Given the description of an element on the screen output the (x, y) to click on. 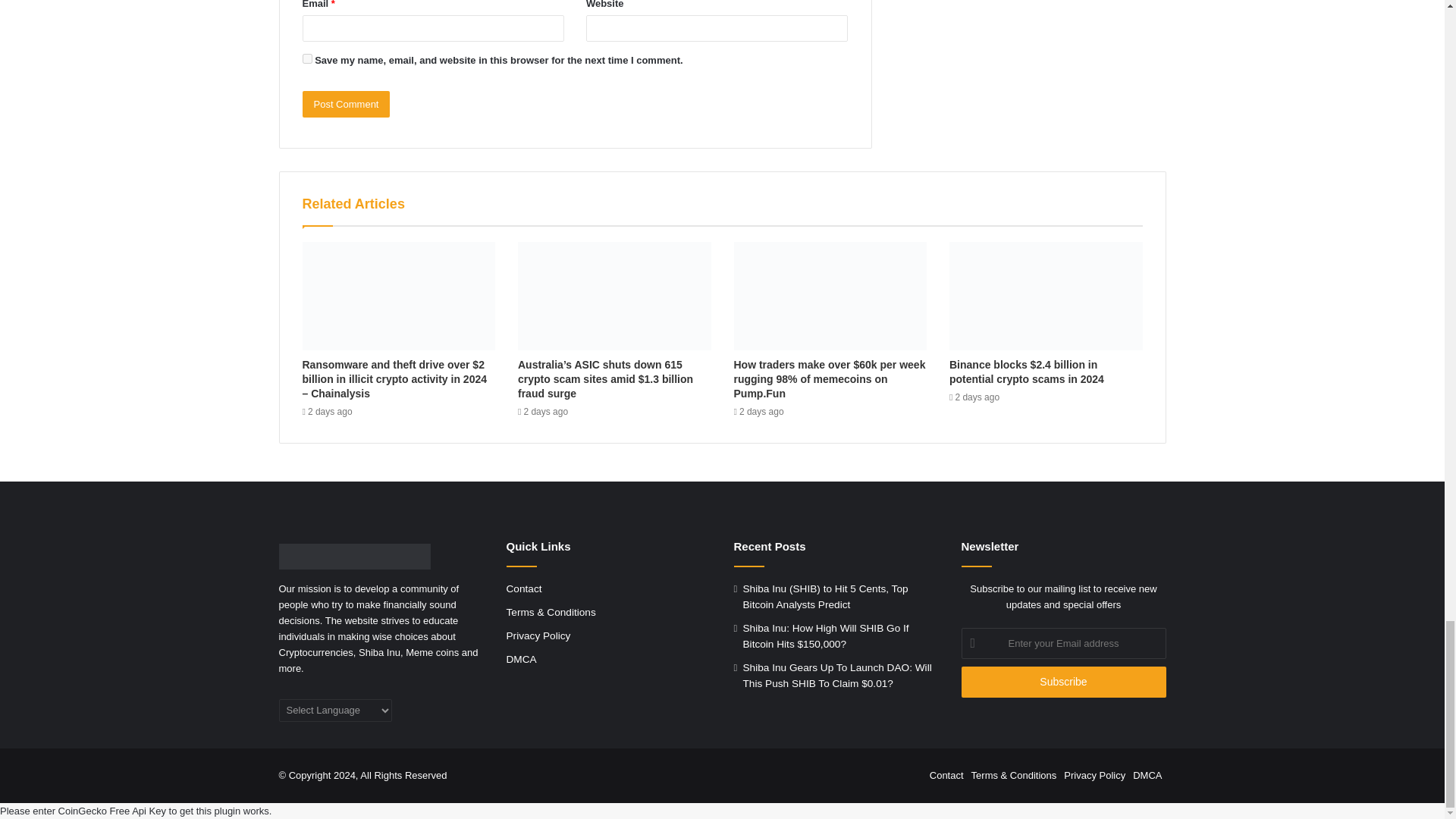
Subscribe (1063, 681)
yes (306, 58)
Post Comment (345, 103)
